Given the description of an element on the screen output the (x, y) to click on. 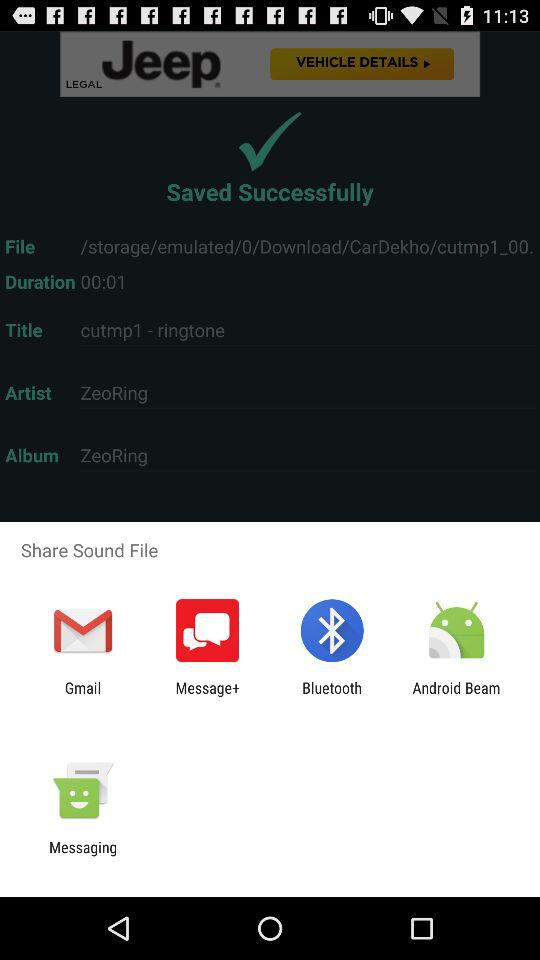
jump until message+ (207, 696)
